Given the description of an element on the screen output the (x, y) to click on. 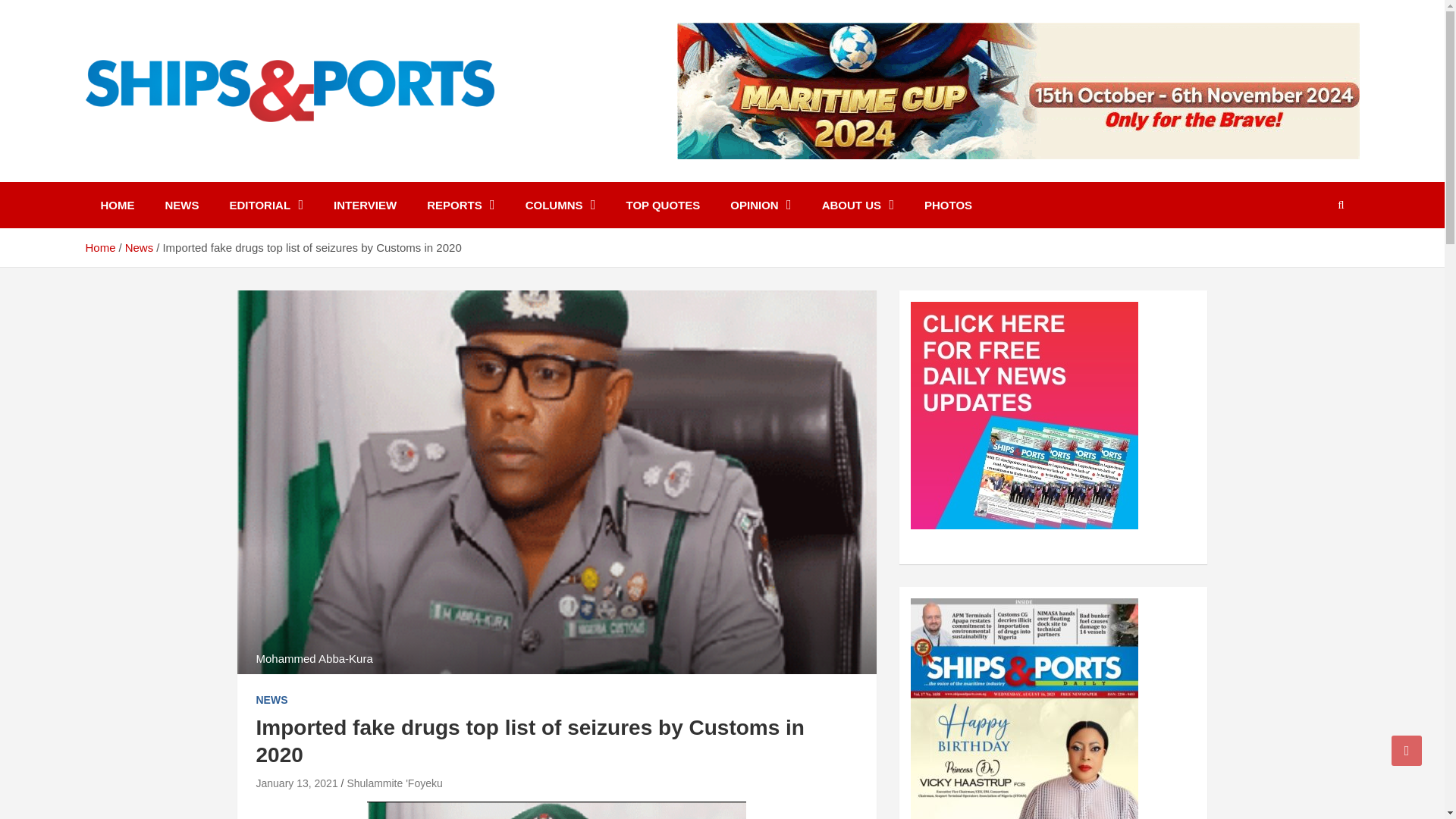
COLUMNS (561, 204)
News (139, 246)
Shulammite 'Foyeku (394, 783)
ABOUT US (857, 204)
OPINION (760, 204)
Home (99, 246)
REPORTS (461, 204)
TOP QUOTES (662, 204)
Imported fake drugs top list of seizures by Customs in 2020 (296, 783)
PHOTOS (947, 204)
HOME (116, 204)
Go to Top (1406, 750)
EDITORIAL (266, 204)
January 13, 2021 (296, 783)
NEWS (272, 700)
